Given the description of an element on the screen output the (x, y) to click on. 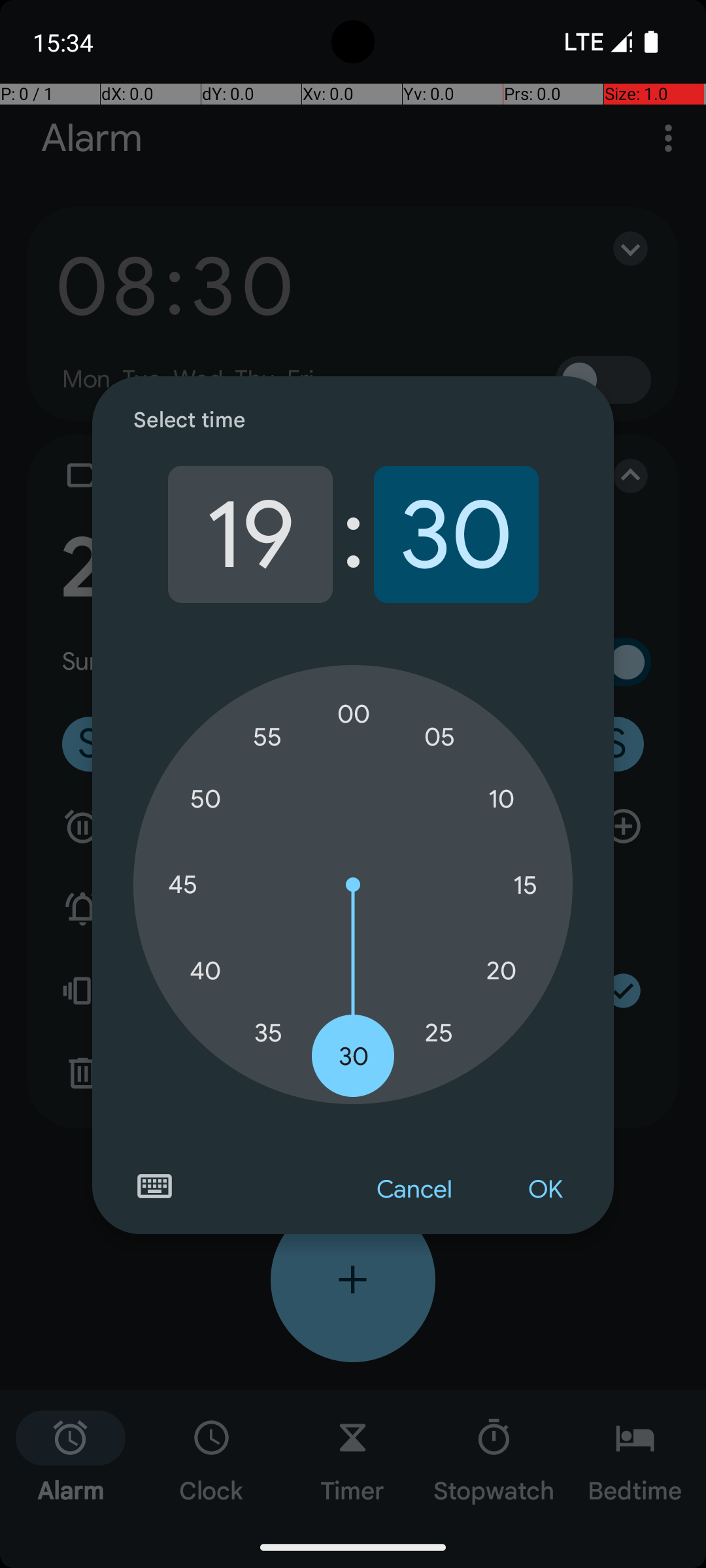
19 Element type: android.view.View (250, 534)
30 Element type: android.view.View (455, 534)
Switch to text input mode for the time input. Element type: android.widget.Button (154, 1186)
Cancel Element type: android.widget.Button (414, 1189)
OK Element type: android.widget.Button (545, 1189)
55 Element type: android.widget.TextView (267, 736)
50 Element type: android.widget.TextView (205, 798)
05 Element type: android.widget.TextView (439, 736)
10 Element type: android.widget.TextView (501, 798)
45 Element type: android.widget.TextView (182, 884)
15 Element type: android.widget.TextView (524, 885)
40 Element type: android.widget.TextView (205, 970)
35 Element type: android.widget.TextView (267, 1032)
25 Element type: android.widget.TextView (438, 1032)
20 Element type: android.widget.TextView (501, 970)
